Given the description of an element on the screen output the (x, y) to click on. 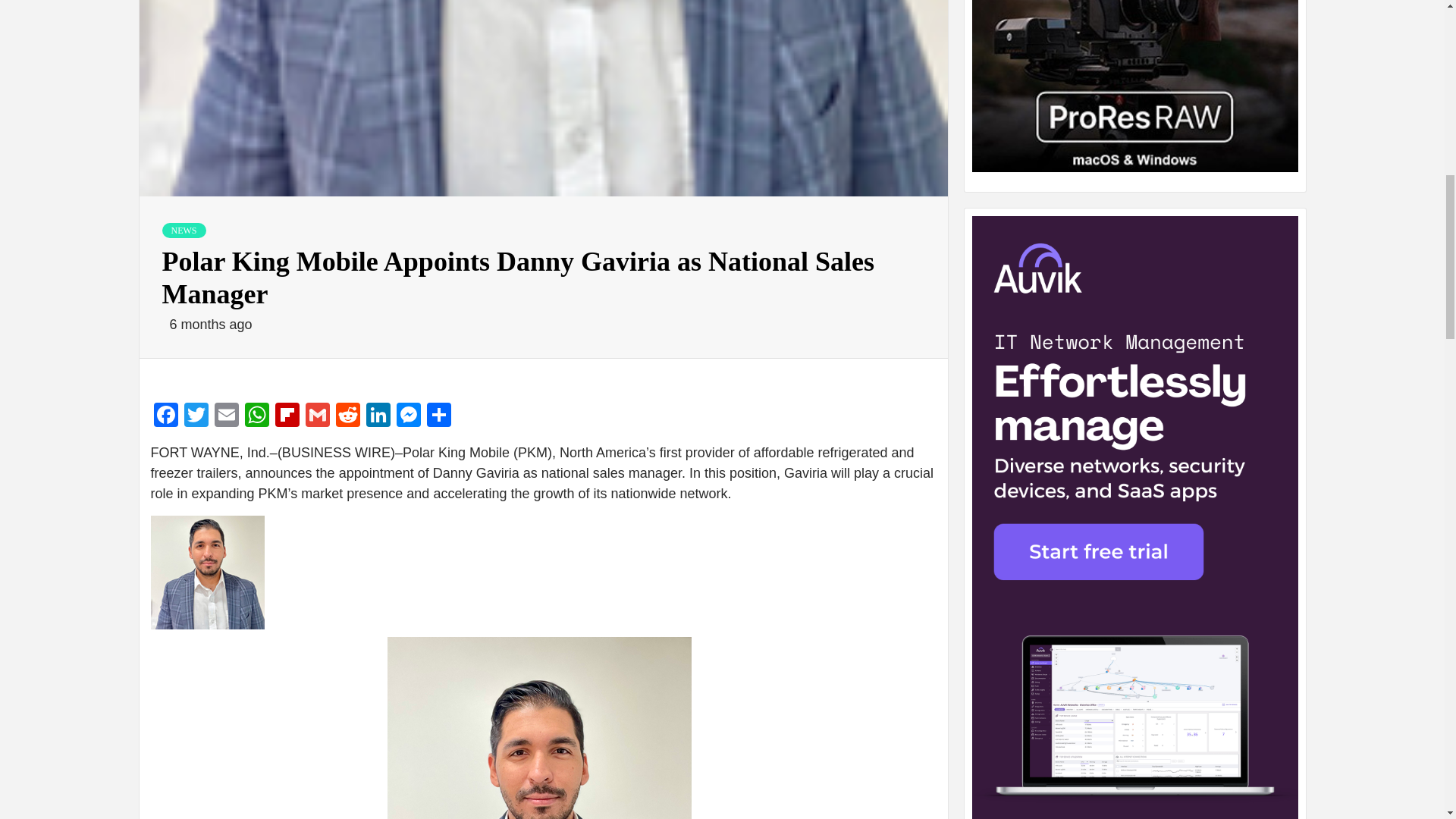
Twitter (195, 416)
Reddit (346, 416)
NEWS (183, 230)
Gmail (316, 416)
Facebook (164, 416)
LinkedIn (377, 416)
Email (226, 416)
Flipboard (285, 416)
Twitter (195, 416)
WhatsApp (255, 416)
